Given the description of an element on the screen output the (x, y) to click on. 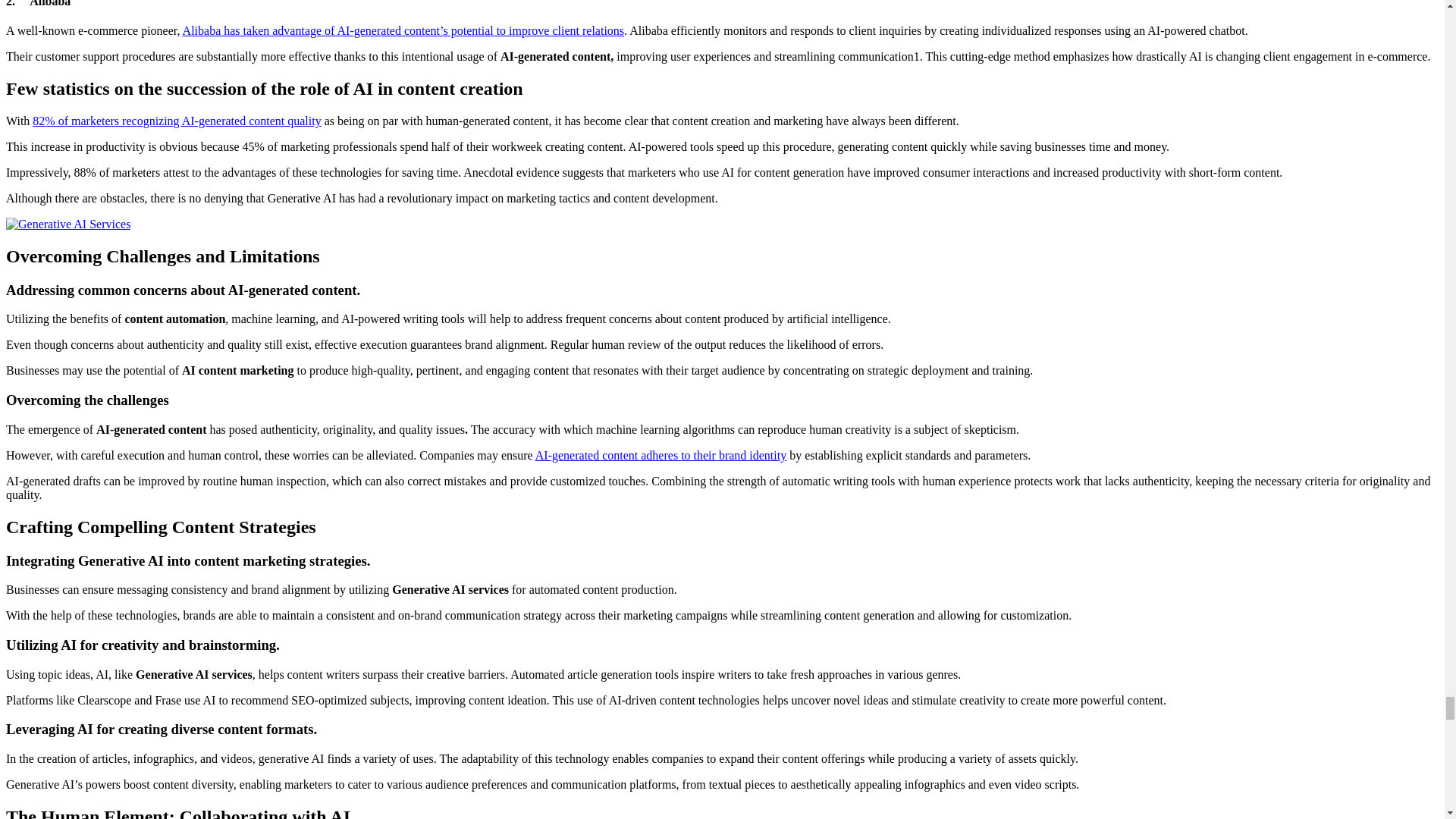
Generative AI Services (68, 223)
